Given the description of an element on the screen output the (x, y) to click on. 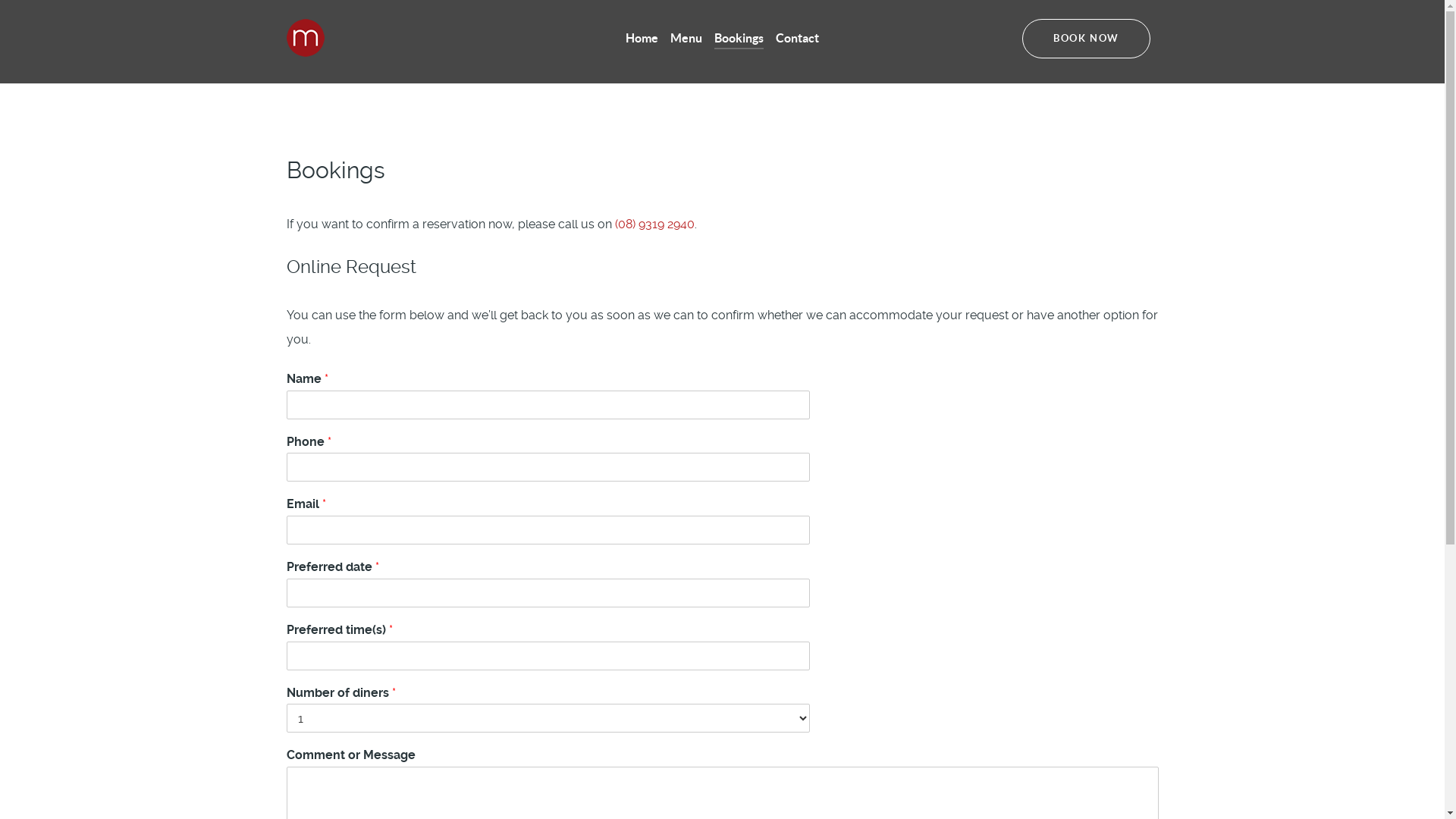
BOOK NOW Element type: text (1086, 38)
Home Element type: text (641, 39)
Menu Element type: text (686, 39)
(08) 9319 2940 Element type: text (653, 223)
Contact Element type: text (797, 39)
Bookings Element type: text (738, 39)
